Given the description of an element on the screen output the (x, y) to click on. 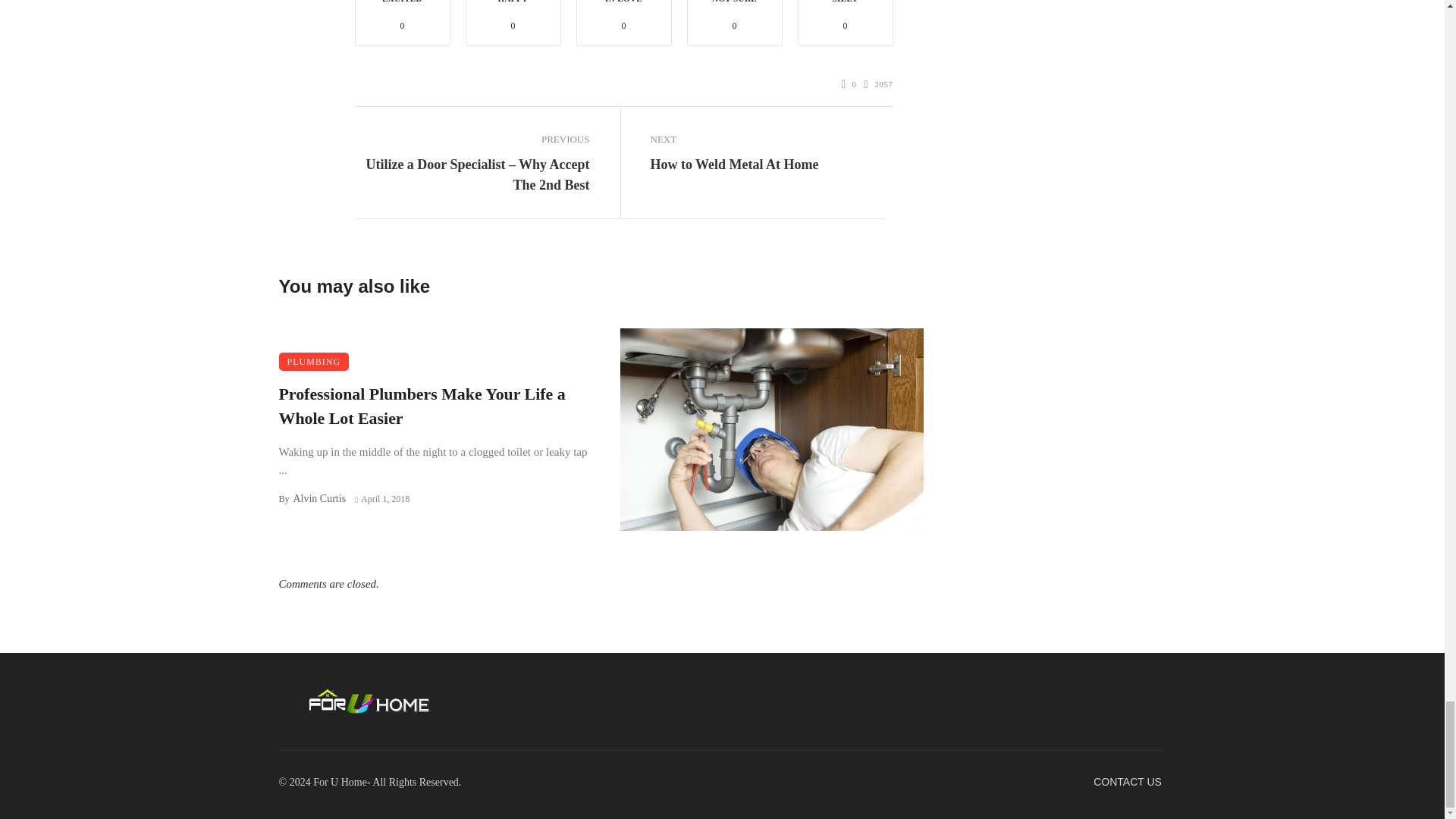
PLUMBING (314, 361)
0 (849, 83)
PREVIOUS (472, 139)
How to Weld Metal At Home (734, 164)
NEXT (767, 139)
2057 (878, 83)
